Given the description of an element on the screen output the (x, y) to click on. 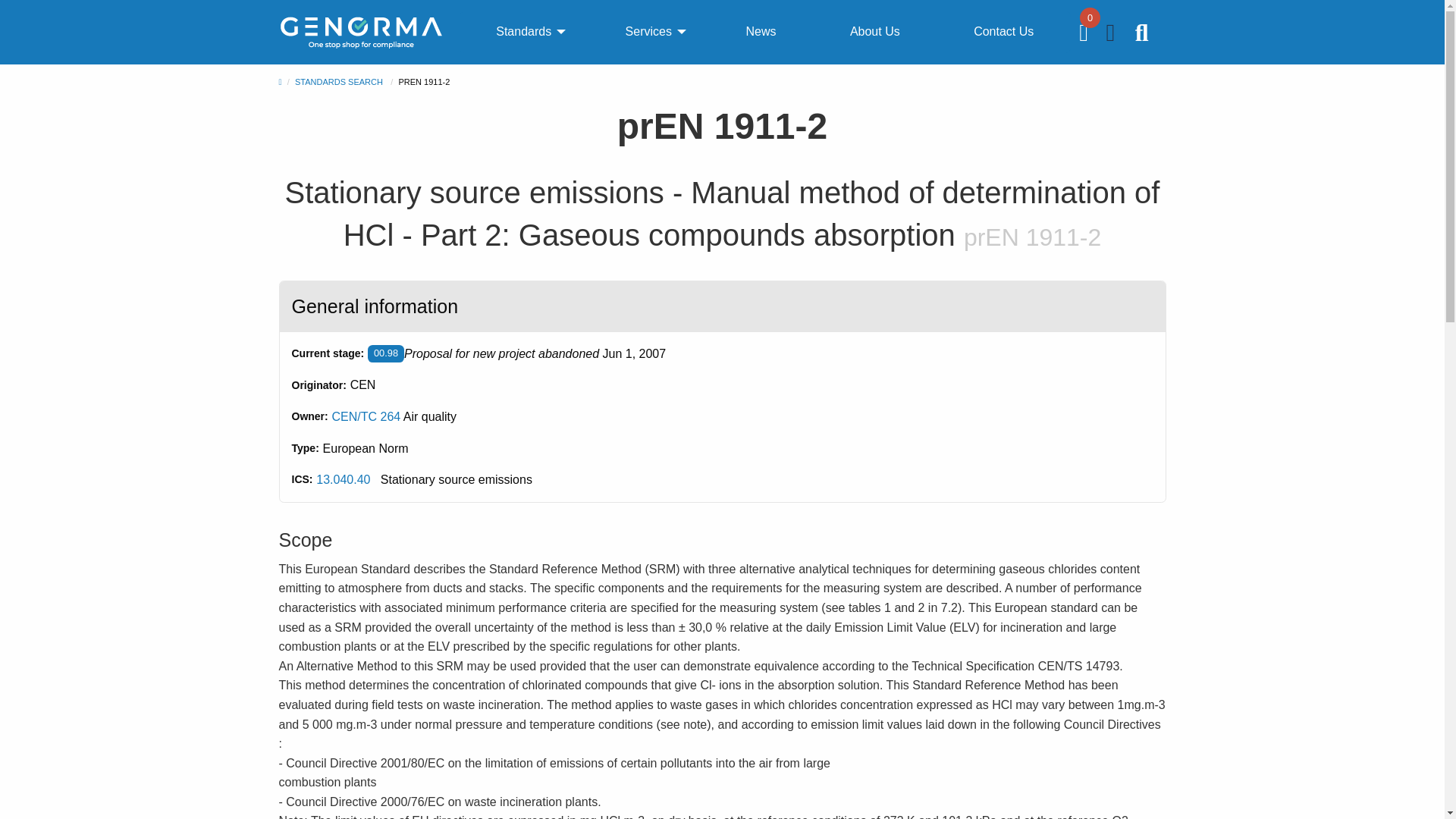
Effective date (634, 353)
About Us (874, 32)
STANDARDS SEARCH (338, 81)
Services (648, 32)
13.040.40 (342, 479)
My account (1112, 36)
News (759, 32)
Contact Us (1003, 32)
Proposal for new project abandoned (386, 353)
Standards (523, 32)
